Given the description of an element on the screen output the (x, y) to click on. 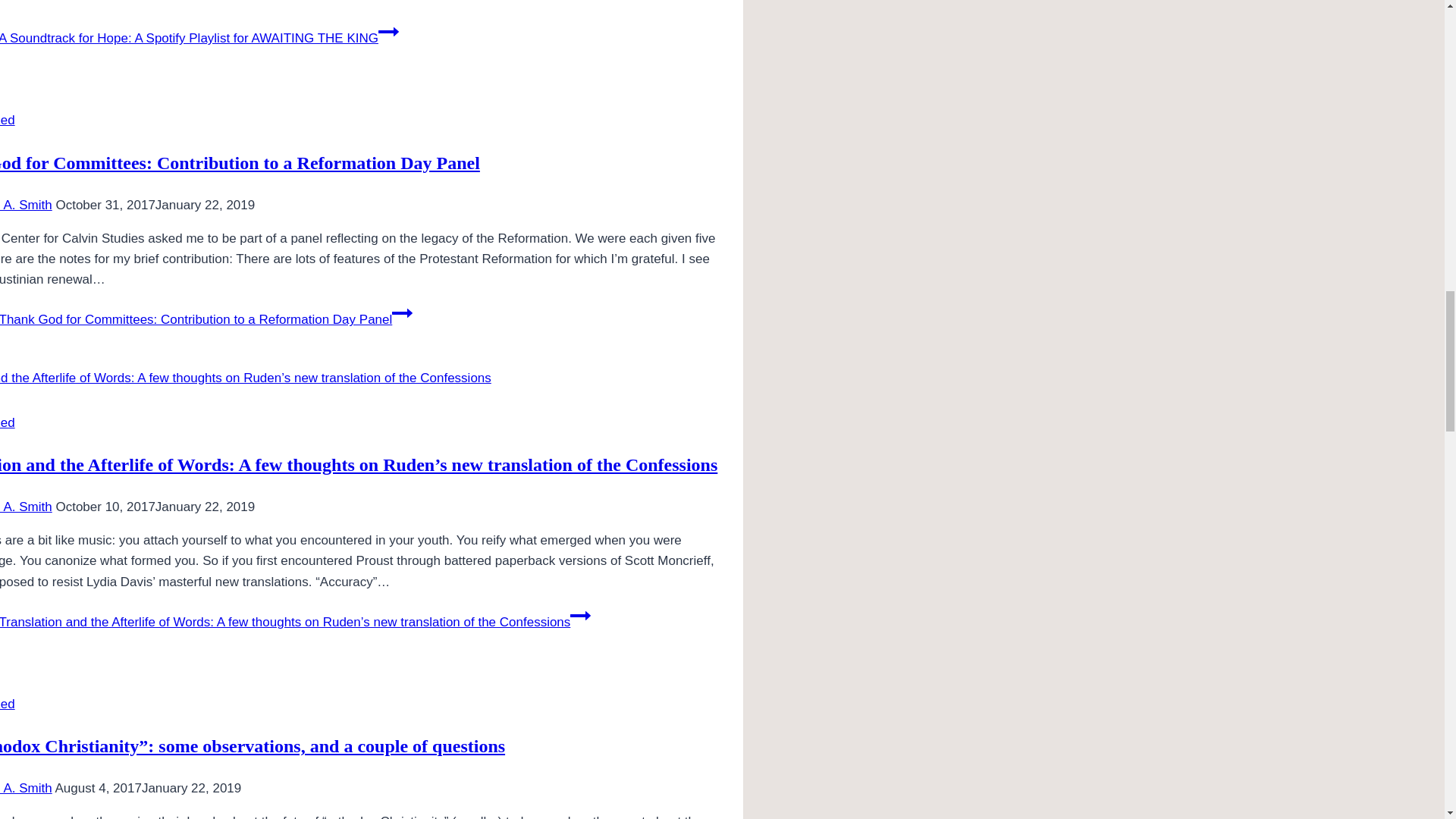
James K. A. Smith (26, 205)
Continue (580, 615)
Uncategorized (7, 703)
Uncategorized (7, 422)
Continue (388, 31)
James K. A. Smith (26, 506)
Uncategorized (7, 120)
